Given the description of an element on the screen output the (x, y) to click on. 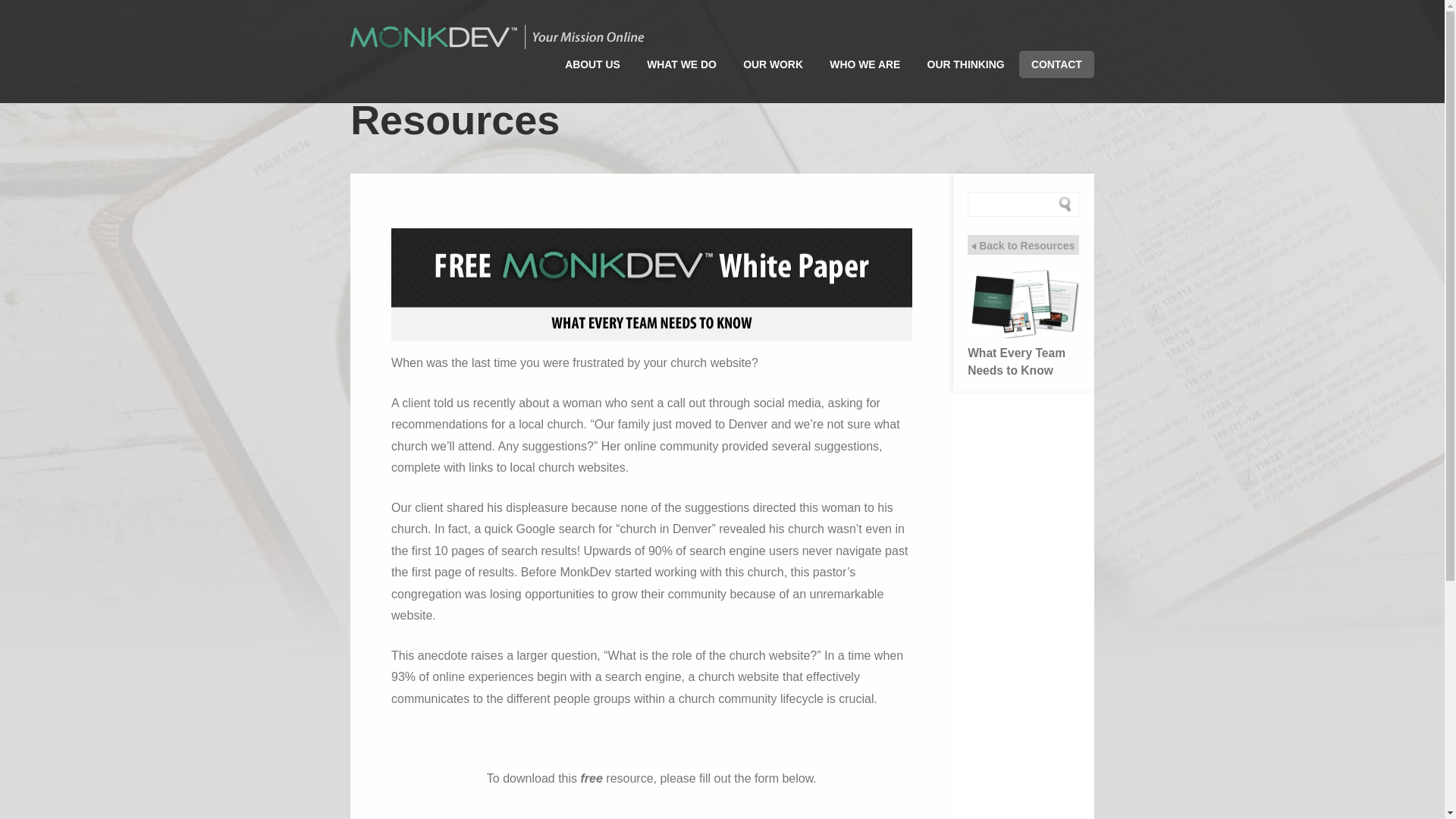
Resource Banner Whitepaper What-Every-Team-Needs-to-Know- (651, 285)
CONTACT (1055, 63)
WHO WE ARE (864, 63)
OUR THINKING (965, 63)
OUR WORK (772, 63)
ABOUT US (592, 63)
WHAT WE DO (681, 63)
